Given the description of an element on the screen output the (x, y) to click on. 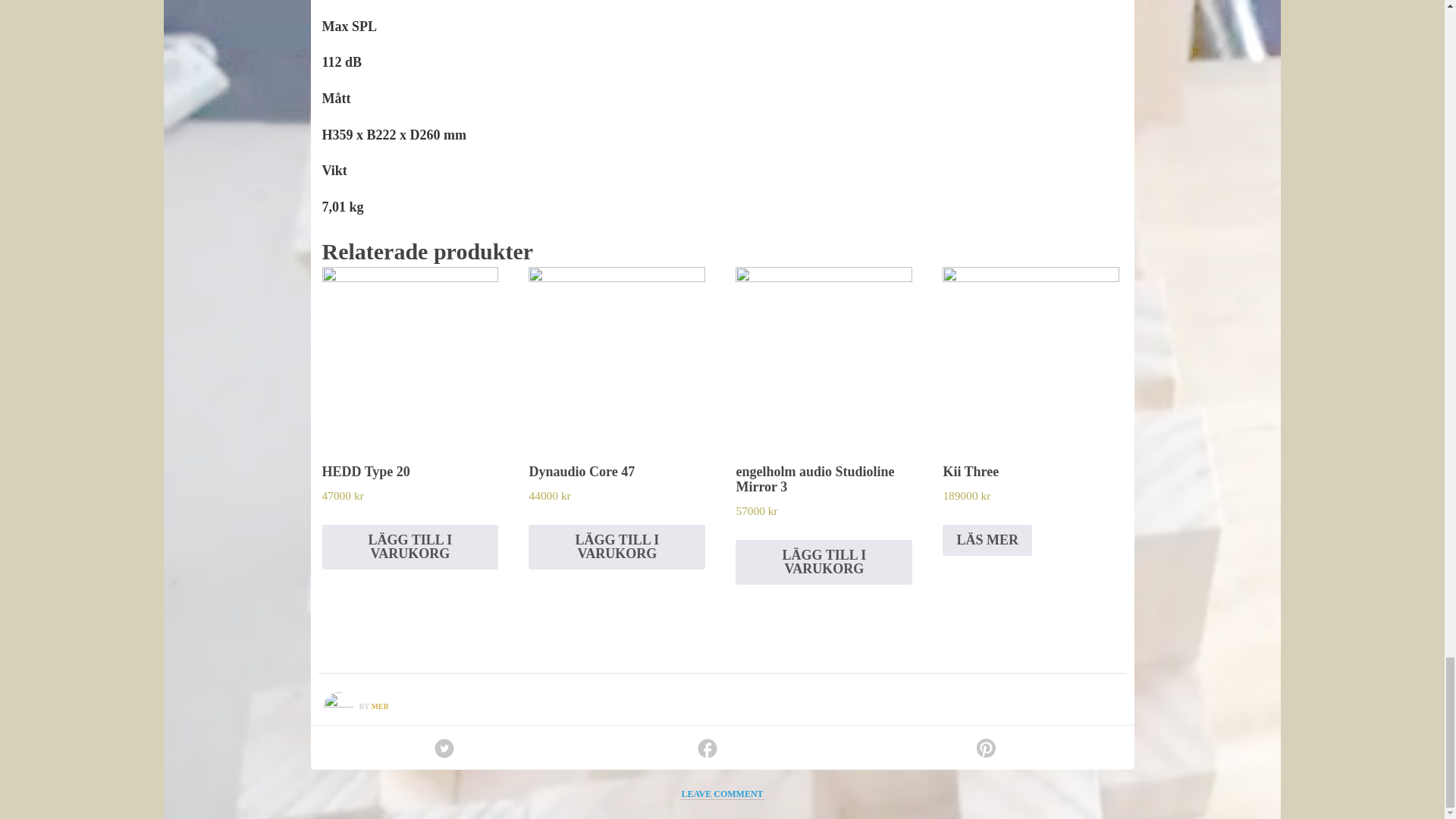
MEB (379, 705)
